Given the description of an element on the screen output the (x, y) to click on. 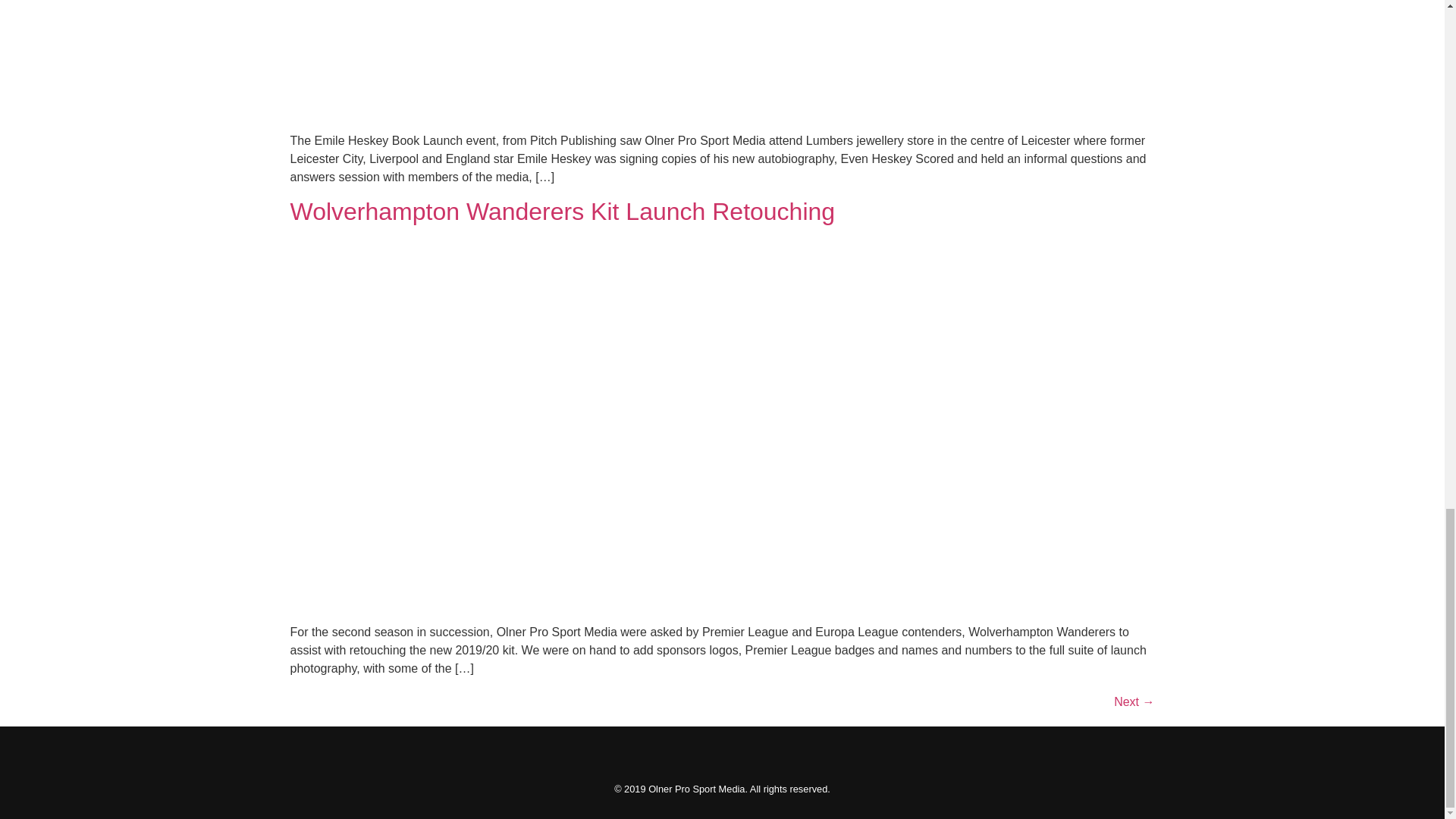
Wolverhampton Wanderers Kit Launch Retouching (561, 211)
